Given the description of an element on the screen output the (x, y) to click on. 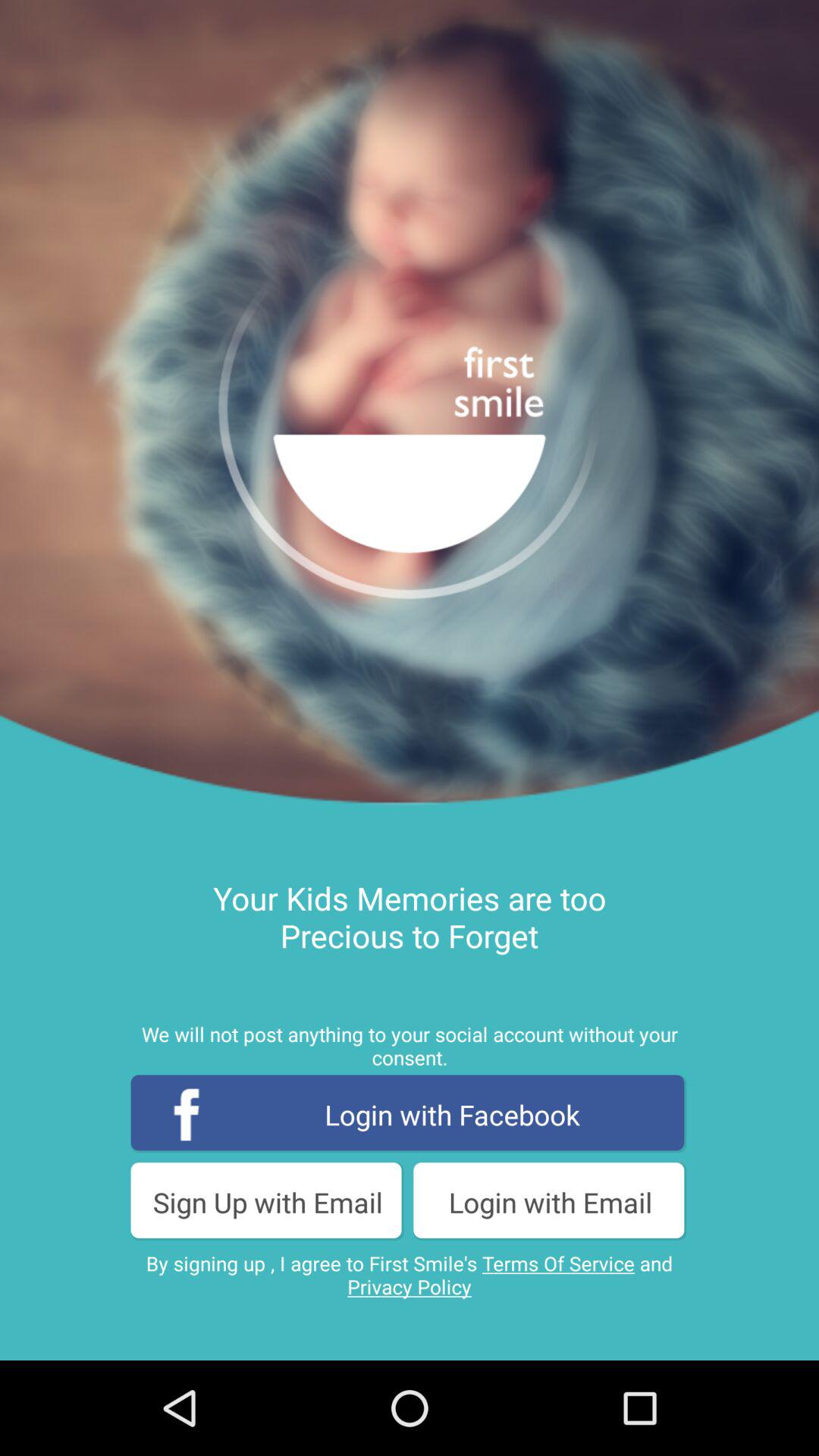
select sign up with item (267, 1202)
